Given the description of an element on the screen output the (x, y) to click on. 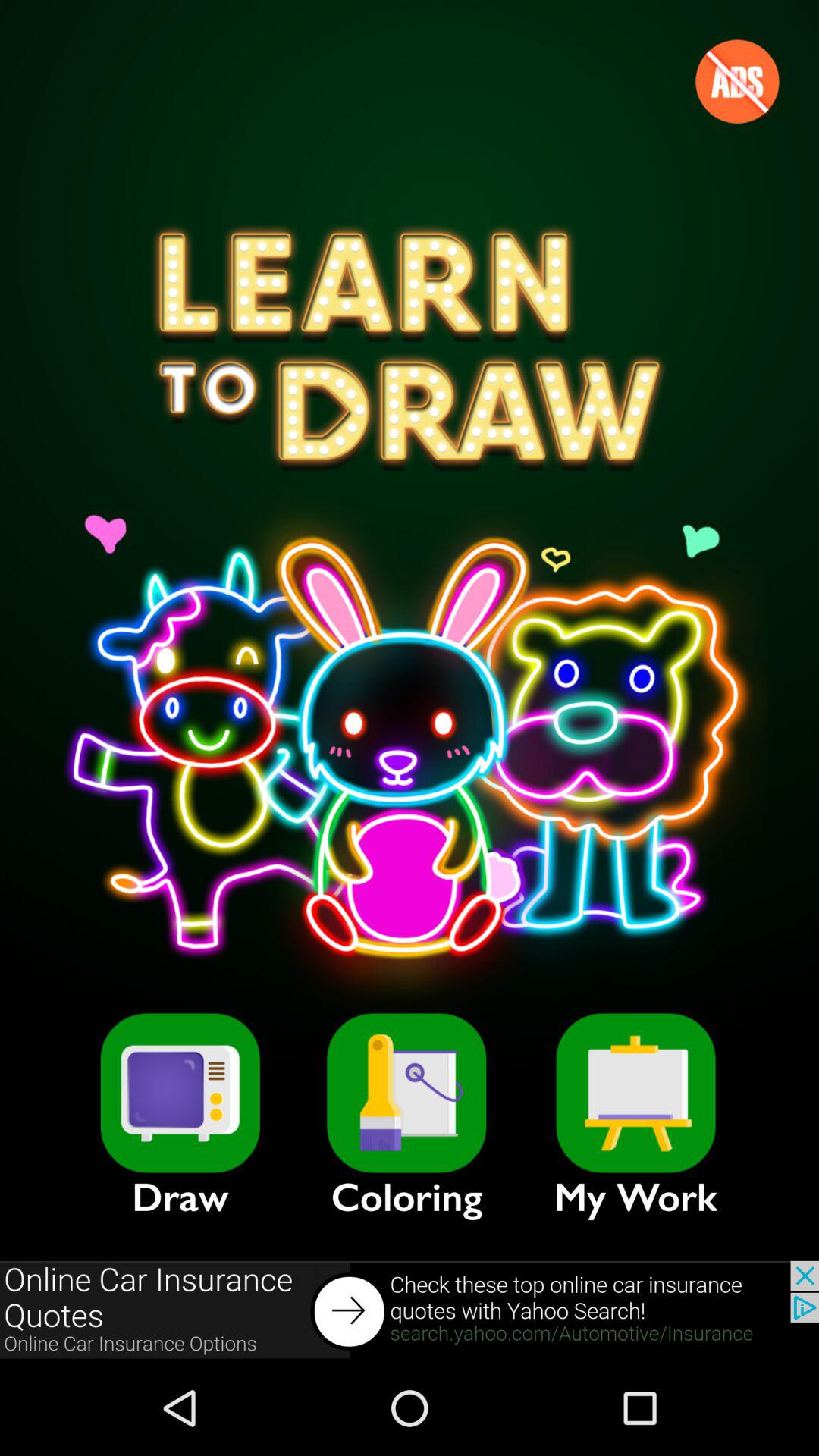
launch the icon to the left of my work icon (406, 1092)
